Given the description of an element on the screen output the (x, y) to click on. 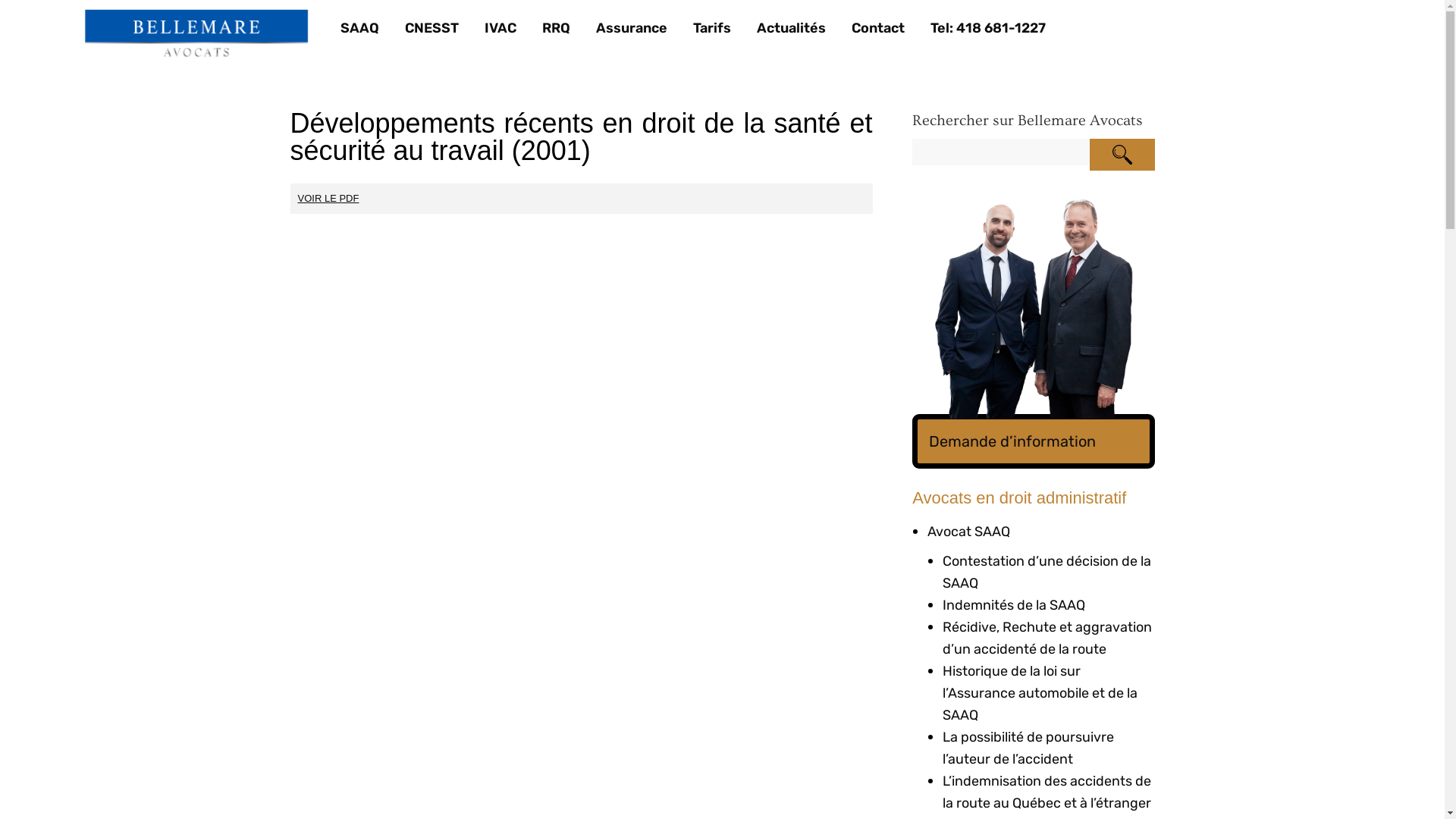
aller Element type: text (1121, 154)
IVAC Element type: text (500, 27)
RRQ Element type: text (556, 27)
Marc Bellemare Avocat Element type: hover (196, 34)
Avocat SAAQ Element type: text (968, 531)
VOIR LE PDF Element type: text (328, 197)
Assurance Element type: text (631, 27)
SAAQ Element type: text (359, 27)
Tel: 418 681-1227 Element type: text (987, 27)
CNESST Element type: text (431, 27)
Tarifs Element type: text (712, 27)
Contact Element type: text (877, 27)
